Given the description of an element on the screen output the (x, y) to click on. 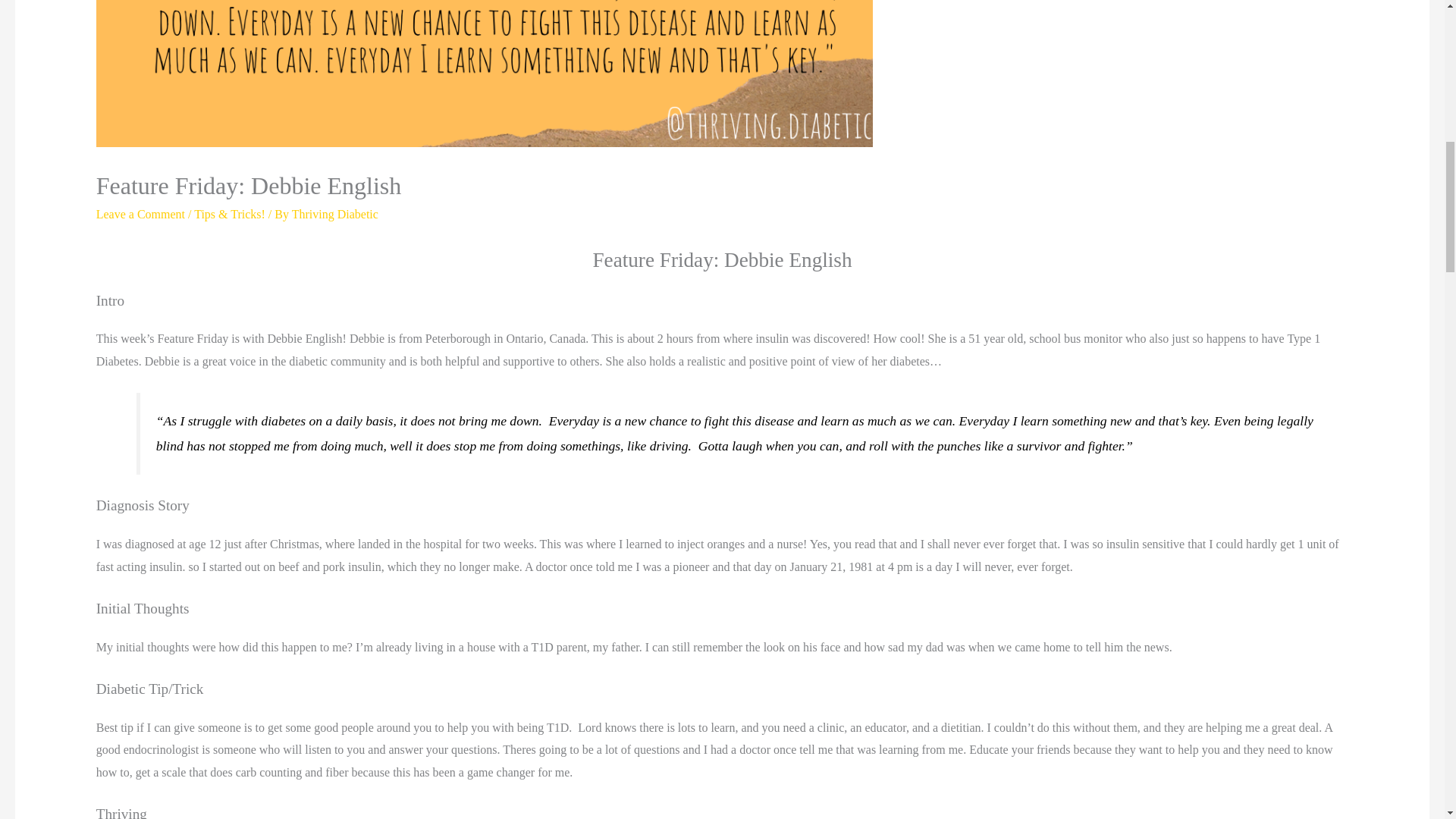
Thriving Diabetic (335, 214)
Leave a Comment (140, 214)
View all posts by Thriving Diabetic (335, 214)
